Given the description of an element on the screen output the (x, y) to click on. 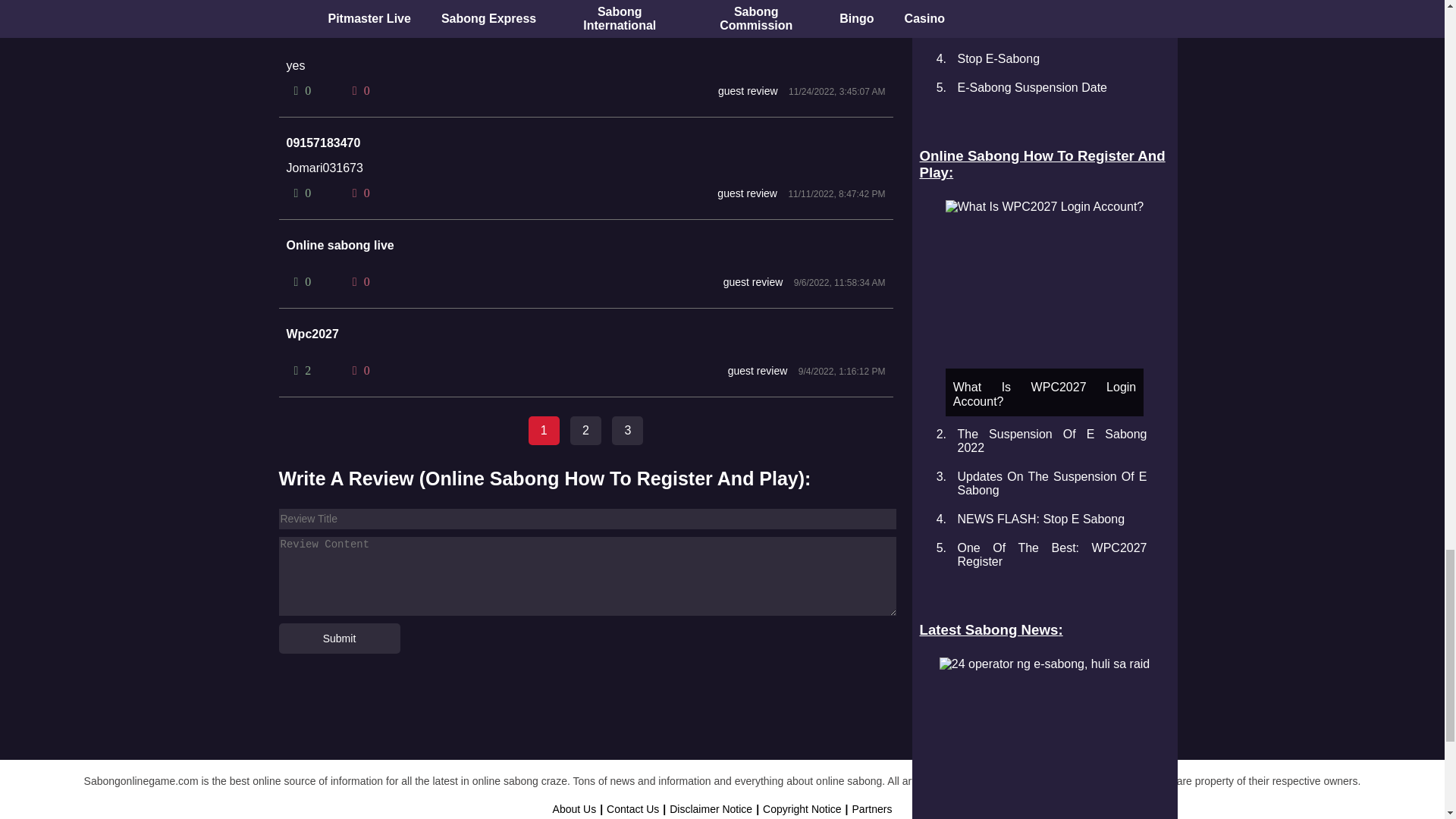
The Suspension Of E Sabong 2022 (1051, 440)
Check Out the Latest WPC 2021 Schedule Today (1051, 22)
What Is WPC2027 Login Account? (1043, 307)
24 operator ng e-sabong, huli sa raid (1044, 663)
E-Sabong Suspension Date (1031, 87)
Online Sabong How To Register And Play (1043, 164)
Stop E-Sabong (997, 58)
Latest Sabong News (1043, 629)
NEWS FLASH: Stop E Sabong (1040, 518)
What Is WPC2027 Login Account? (1043, 206)
One Of The Best: WPC2027 Register (1051, 554)
Updates On The Suspension Of E Sabong (1051, 483)
